Given the description of an element on the screen output the (x, y) to click on. 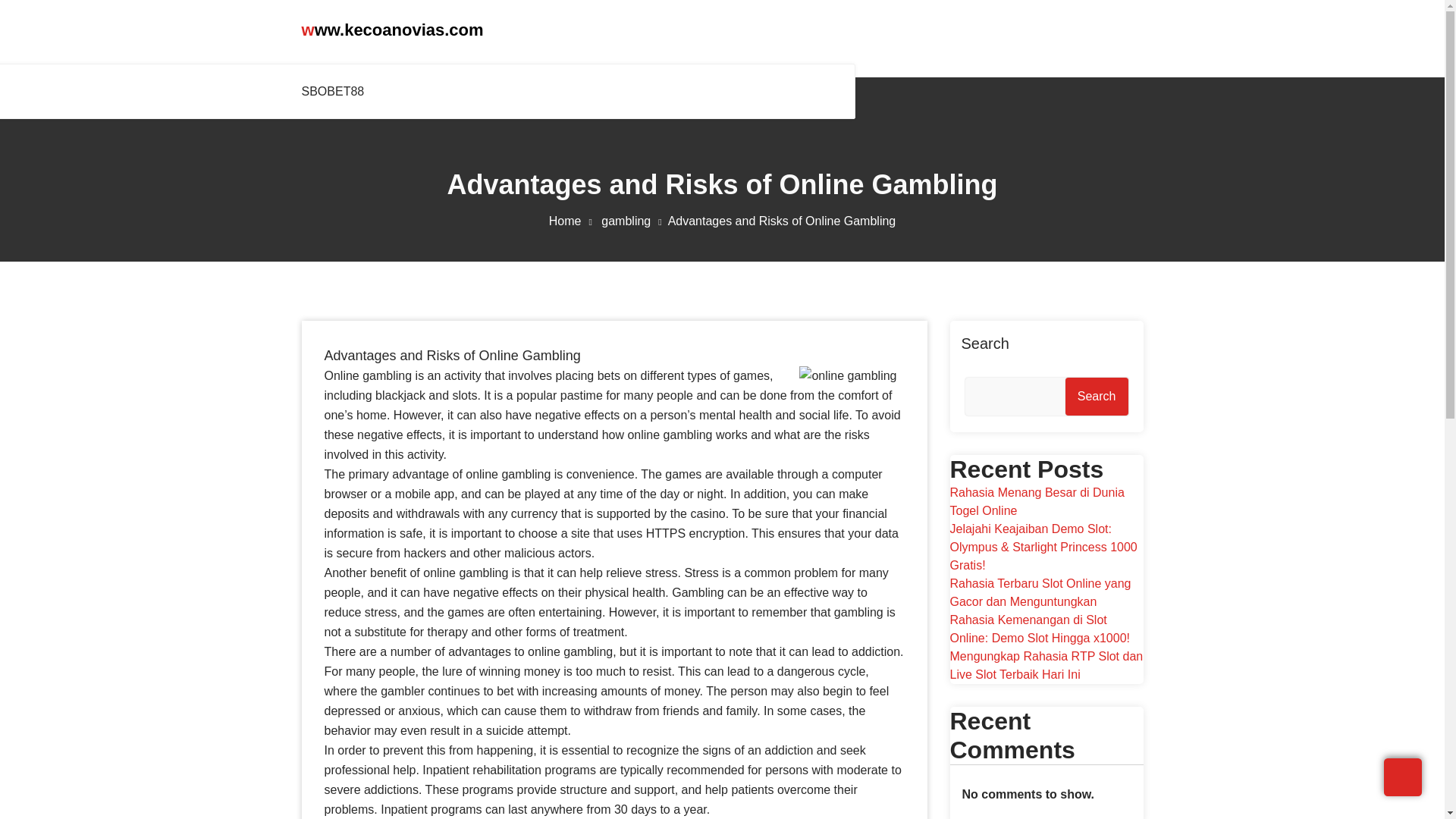
gambling (633, 220)
www.kecoanovias.com (392, 30)
Search (1096, 396)
Home (573, 220)
SBOBET88 (336, 91)
SBOBET88 (336, 91)
Rahasia Terbaru Slot Online yang Gacor dan Menguntungkan (1040, 592)
Mengungkap Rahasia RTP Slot dan Live Slot Terbaik Hari Ini (1045, 665)
Rahasia Kemenangan di Slot Online: Demo Slot Hingga x1000! (1039, 628)
Rahasia Menang Besar di Dunia Togel Online (1036, 501)
